Given the description of an element on the screen output the (x, y) to click on. 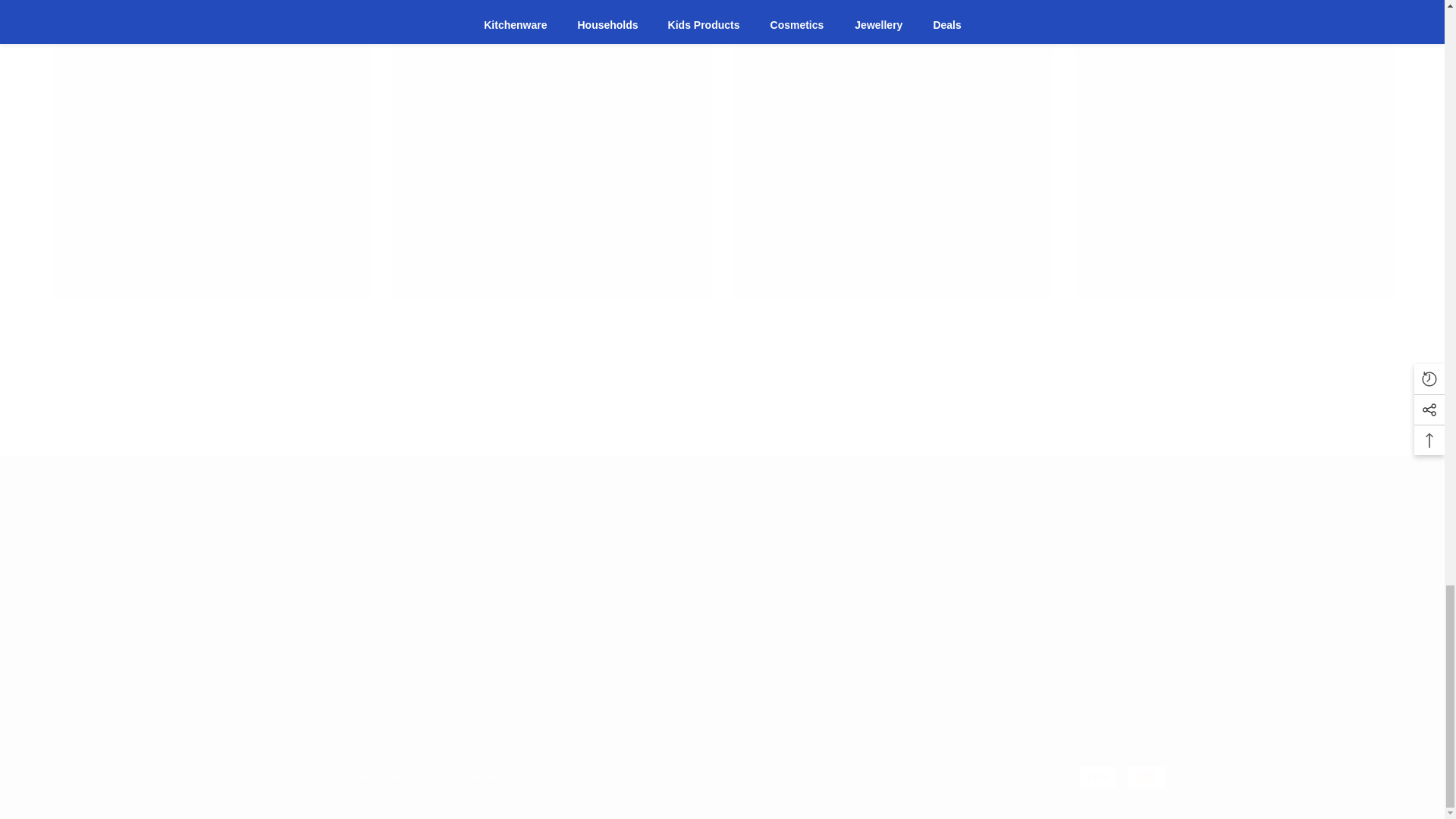
Visa (1098, 776)
Mastercard (1146, 776)
